Given the description of an element on the screen output the (x, y) to click on. 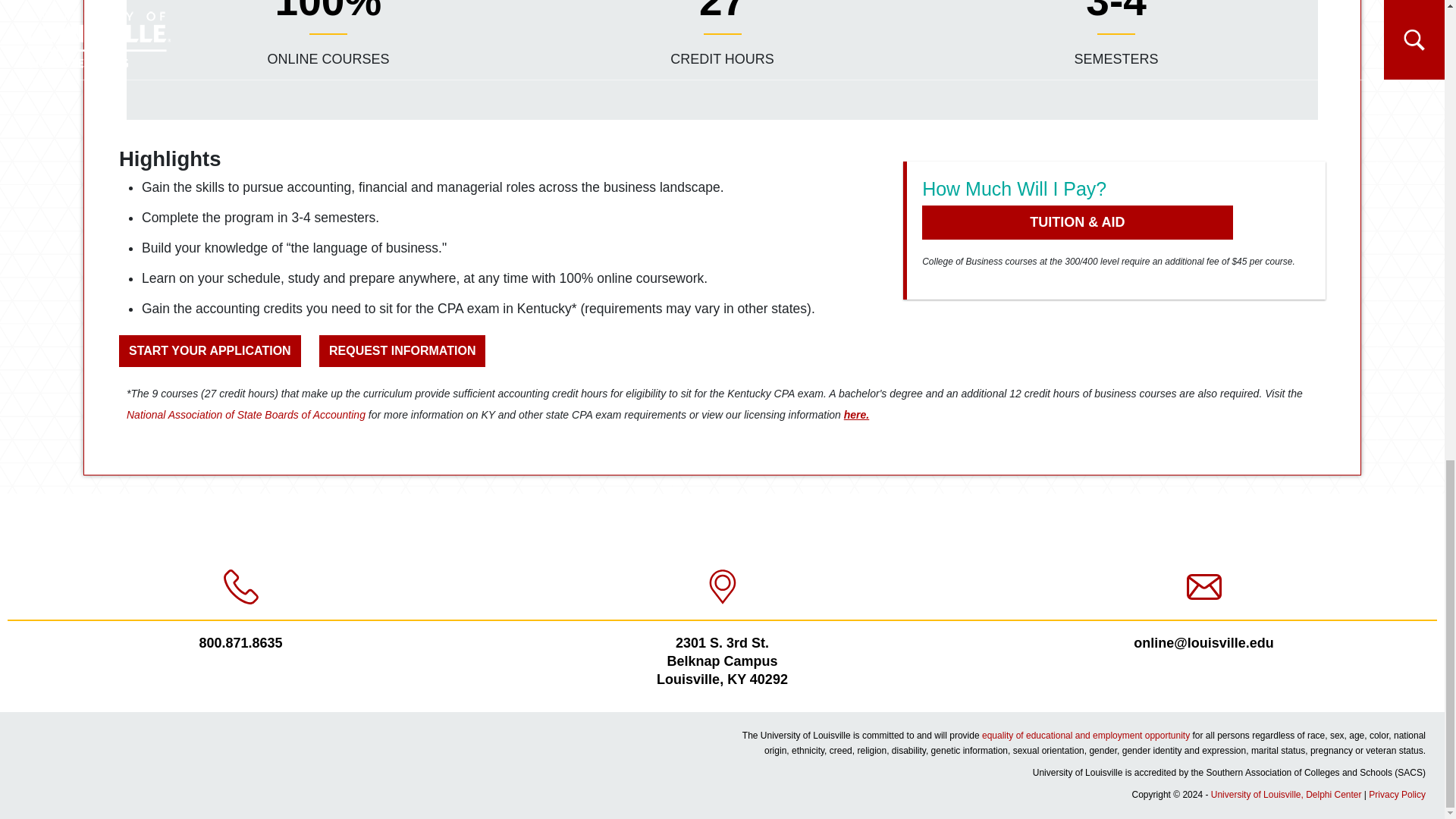
here. (856, 414)
START YOUR APPLICATION (210, 350)
REQUEST INFORMATION (401, 350)
National Association of State Boards of Accounting (245, 414)
